Given the description of an element on the screen output the (x, y) to click on. 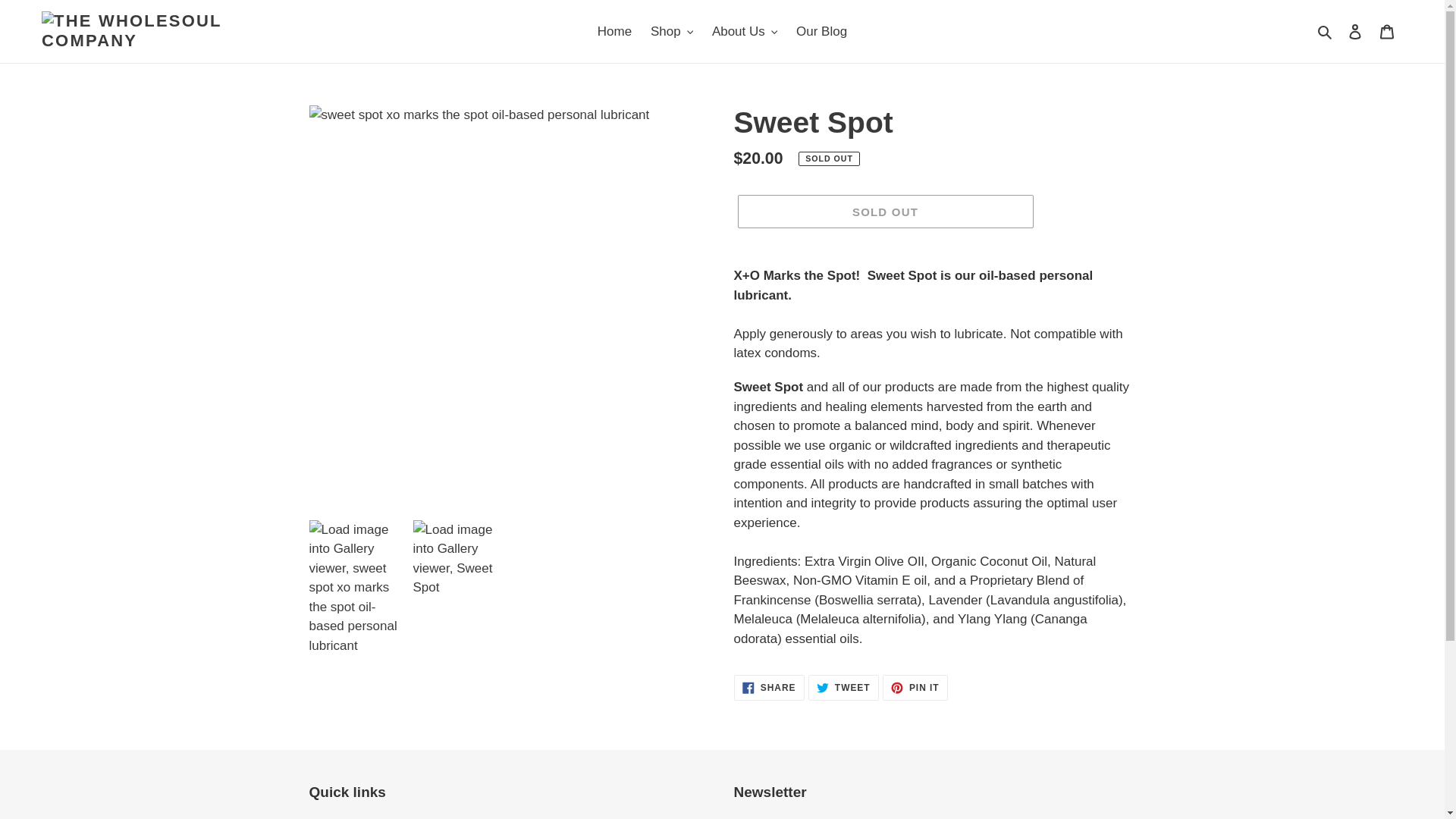
About Us (744, 31)
Search (1326, 31)
Our Blog (821, 31)
Home (843, 687)
Cart (614, 31)
Shop (1387, 31)
SOLD OUT (671, 31)
